Given the description of an element on the screen output the (x, y) to click on. 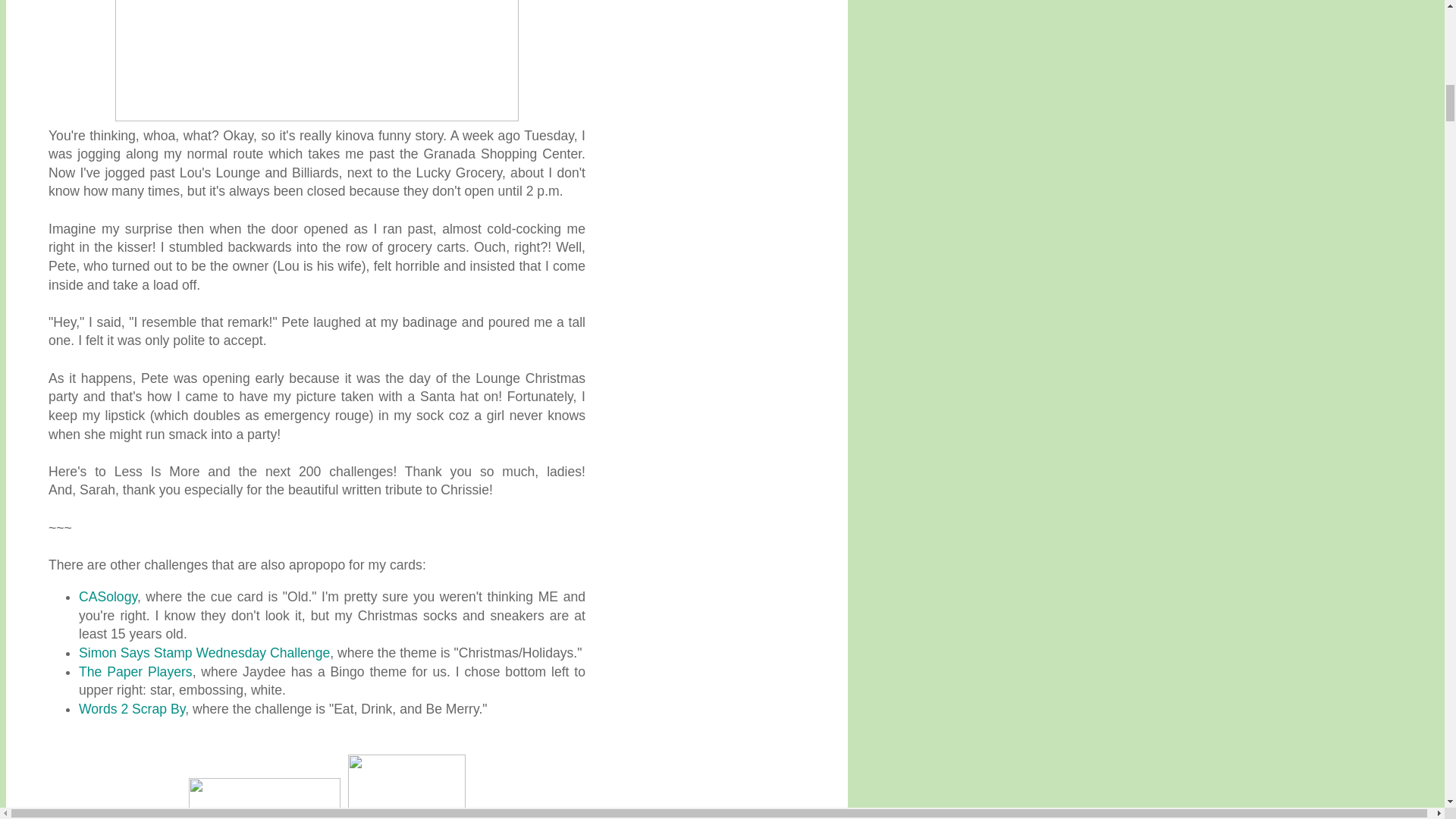
The Paper Players (135, 671)
Words 2 Scrap By (131, 708)
CASology (107, 596)
Simon Says Stamp Wednesday Challenge (204, 652)
